Given the description of an element on the screen output the (x, y) to click on. 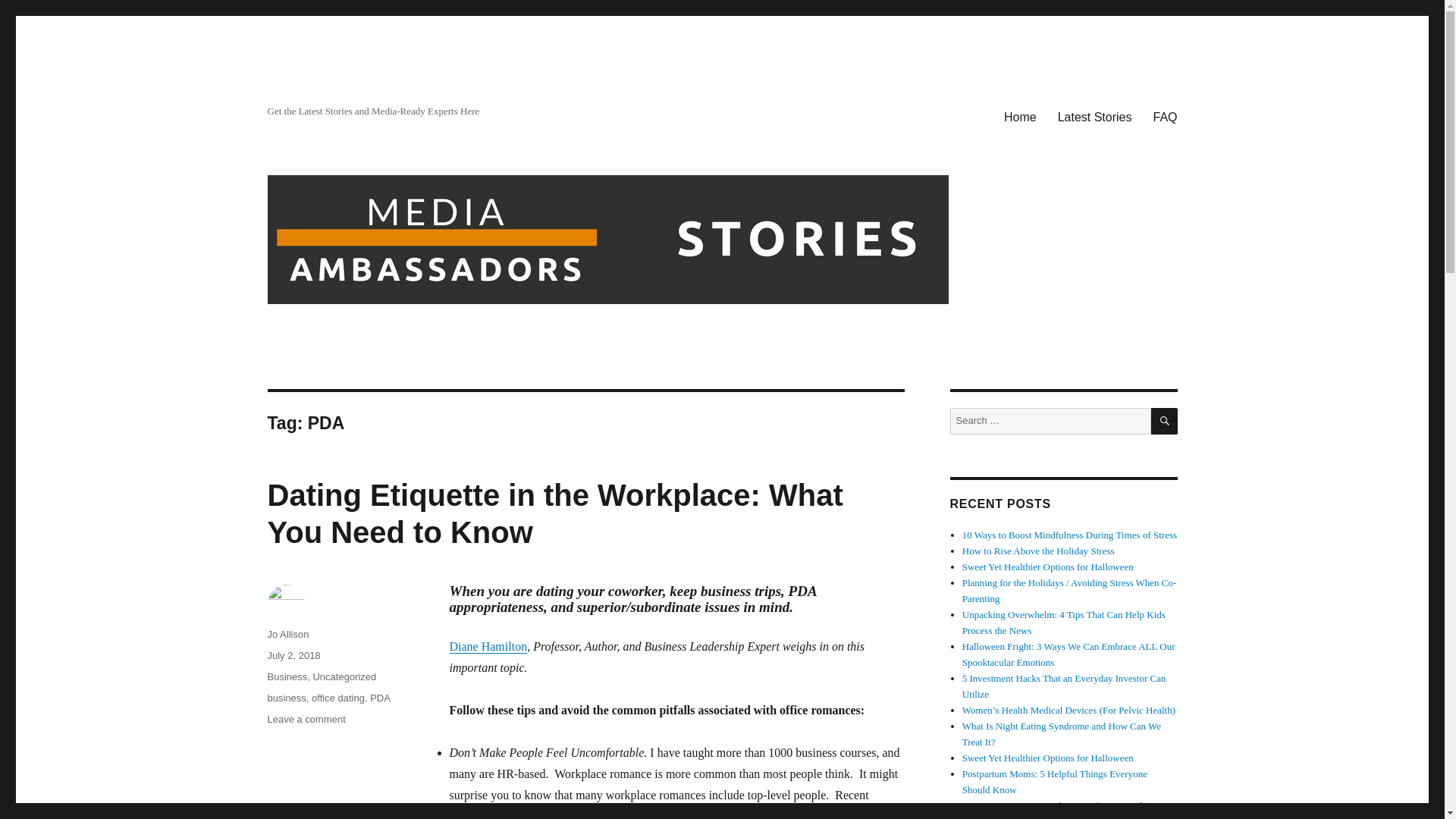
PDA (379, 697)
Business (286, 676)
Sweet Yet Healthier Options for Halloween (1048, 757)
FAQ (1164, 116)
Jo Allison (287, 633)
Latest Stories (1094, 116)
5 Investment Hacks That an Everyday Investor Can Utilize (1064, 686)
Uncategorized (344, 676)
SEARCH (1164, 420)
Diane Hamilton (487, 645)
Dating Etiquette in the Workplace: What You Need to Know (554, 513)
10 Ways to Boost Mindfulness During Times of Stress (1069, 534)
How to Rise Above the Holiday Stress (1038, 550)
office dating (338, 697)
